Given the description of an element on the screen output the (x, y) to click on. 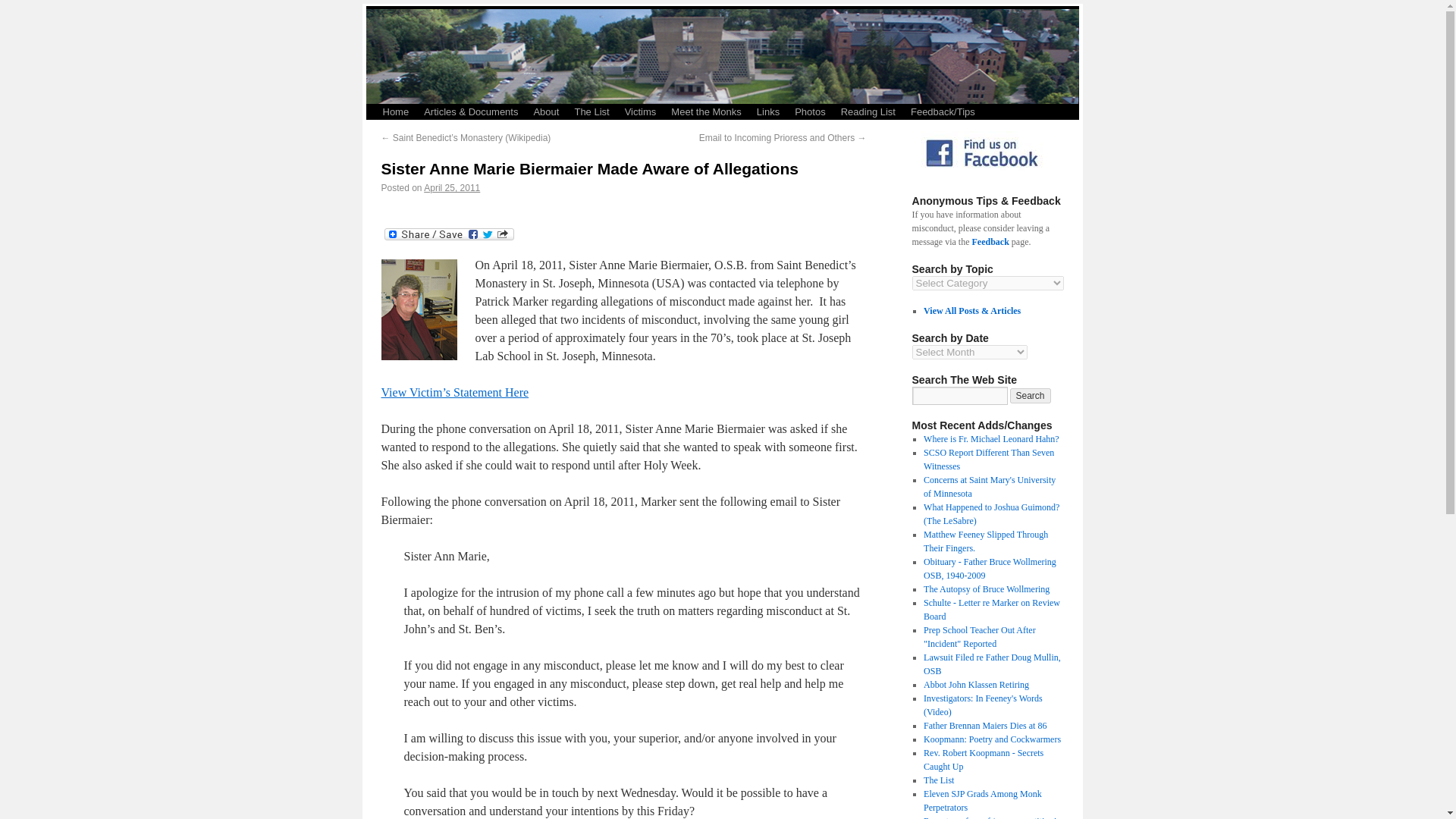
Photos (809, 111)
Feedback (990, 241)
Obituary - Father Bruce Wollmering OSB, 1940-2009 (990, 568)
Where is Fr. Michael Leonard Hahn? (991, 439)
Search (1030, 395)
Home (395, 111)
Victims (640, 111)
3:00 pm (451, 187)
Links (768, 111)
The Autopsy of Bruce Wollmering (986, 588)
